Given the description of an element on the screen output the (x, y) to click on. 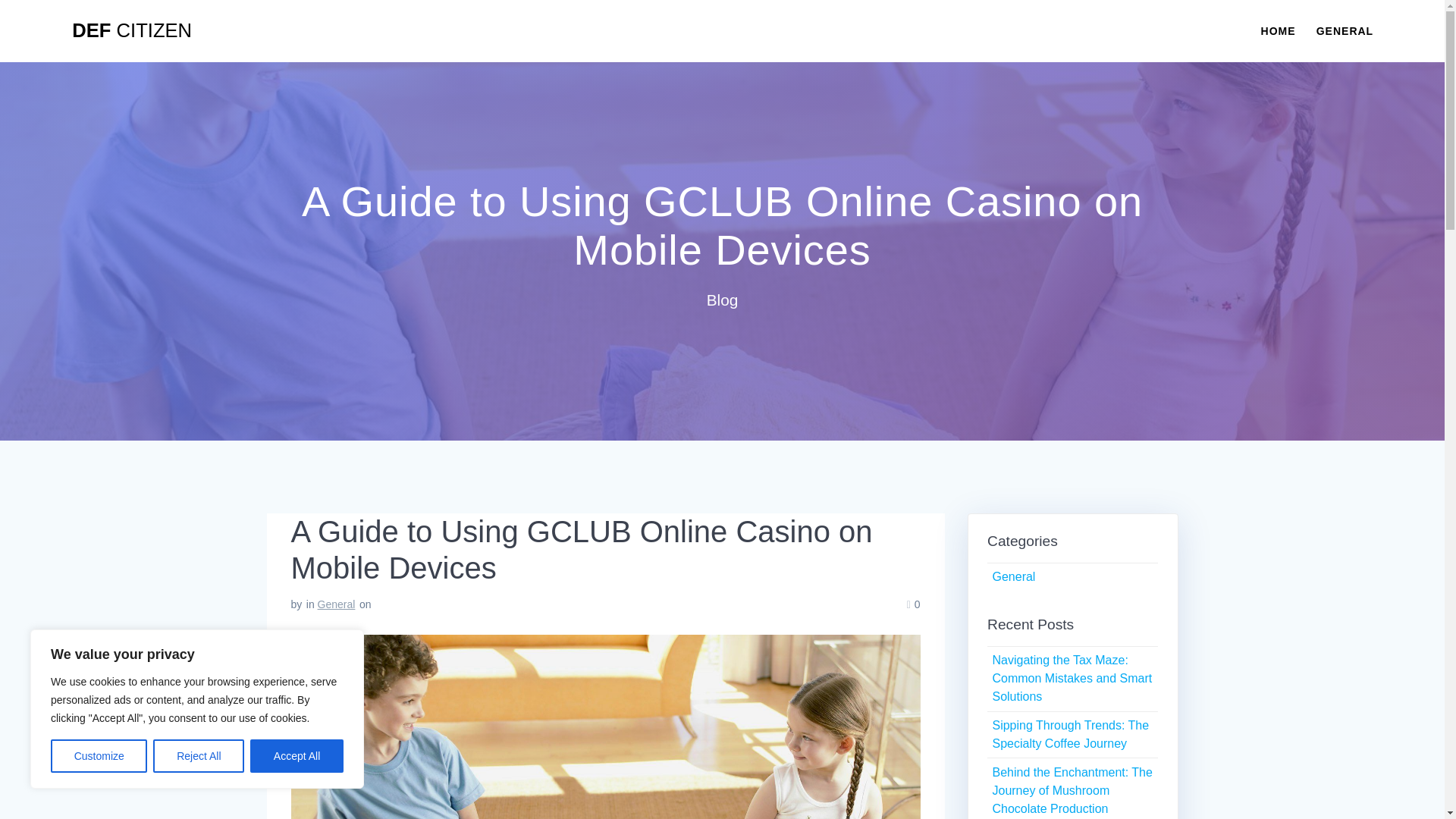
Navigating the Tax Maze: Common Mistakes and Smart Solutions (1071, 677)
DEF CITIZEN (131, 30)
Accept All (296, 756)
General (336, 604)
Reject All (198, 756)
GENERAL (1344, 30)
Customize (98, 756)
General (1013, 576)
Sipping Through Trends: The Specialty Coffee Journey (1069, 734)
HOME (1277, 30)
